Given the description of an element on the screen output the (x, y) to click on. 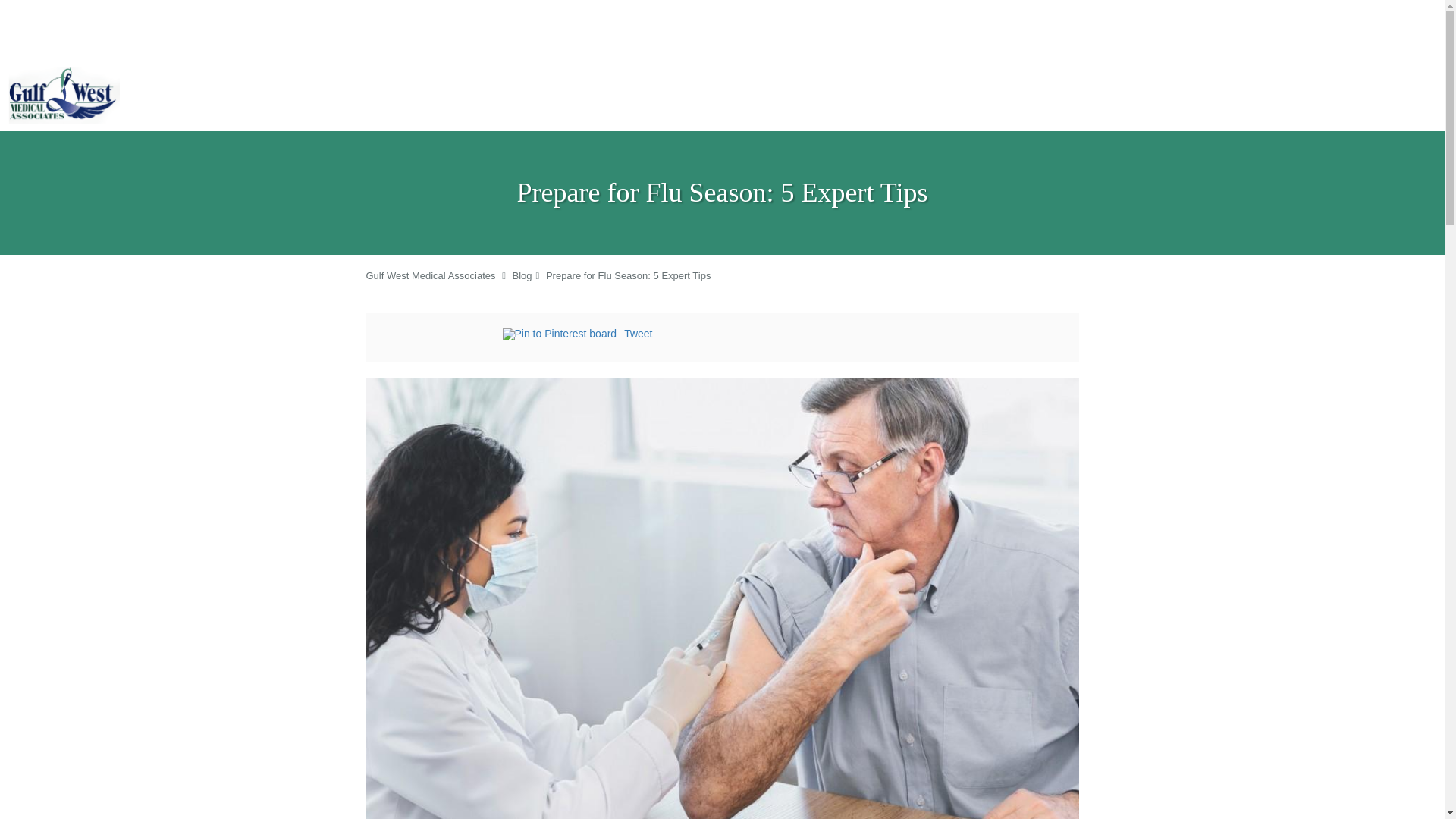
Prepare for Flu Season: 5 Expert Tips (628, 275)
Skip to main content (74, 66)
Gulf West Medical Associates (430, 275)
Facebook social button (441, 335)
Blog (522, 275)
